Given the description of an element on the screen output the (x, y) to click on. 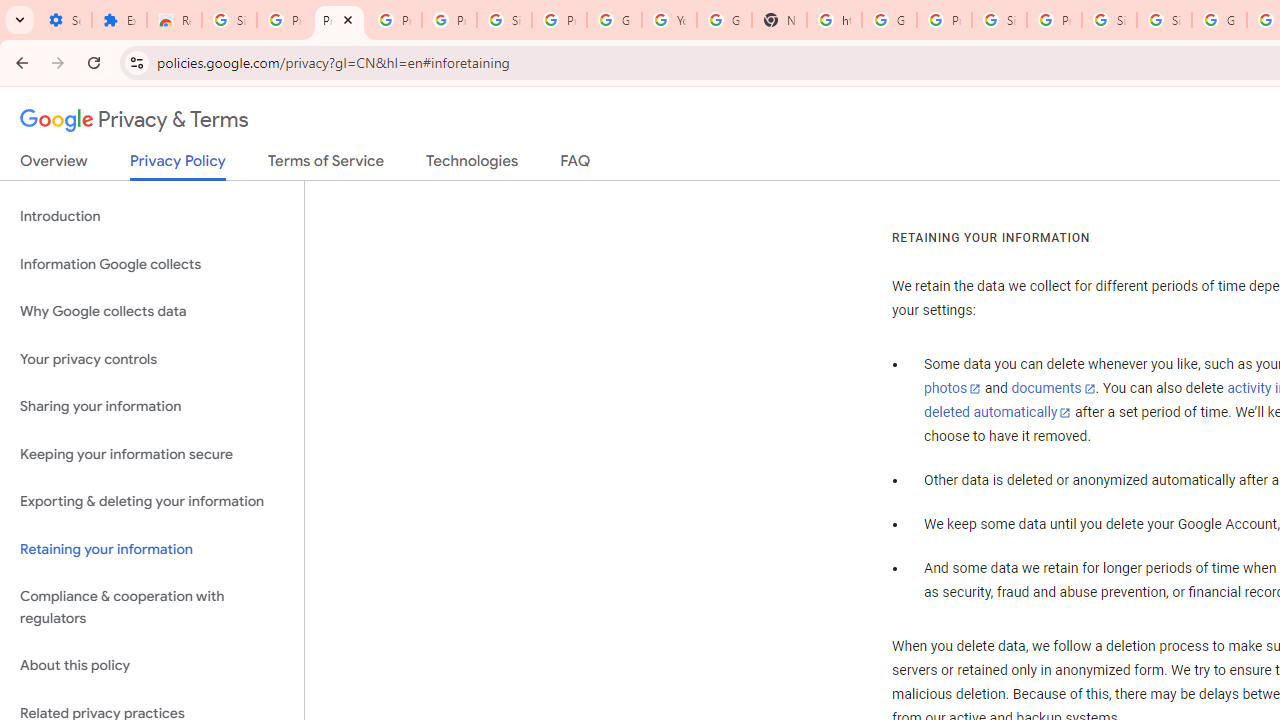
documents (1053, 389)
Information Google collects (152, 263)
Settings - On startup (64, 20)
